Given the description of an element on the screen output the (x, y) to click on. 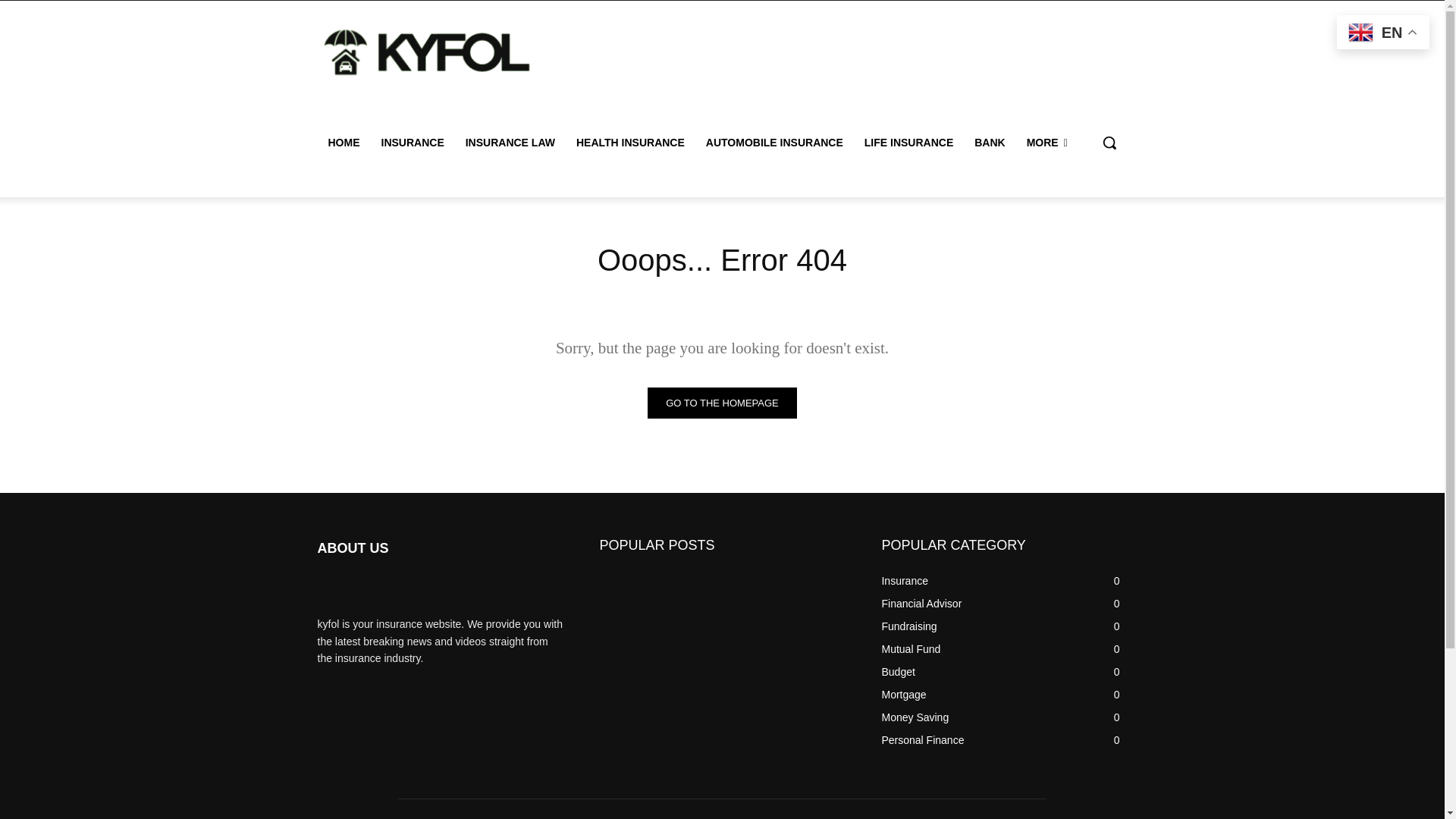
MORE (1047, 142)
AUTOMOBILE INSURANCE (774, 142)
HEALTH INSURANCE (630, 142)
INSURANCE LAW (510, 142)
INSURANCE (411, 142)
BANK (988, 142)
LIFE INSURANCE (908, 142)
HOME (343, 142)
Go to the homepage (721, 402)
